Given the description of an element on the screen output the (x, y) to click on. 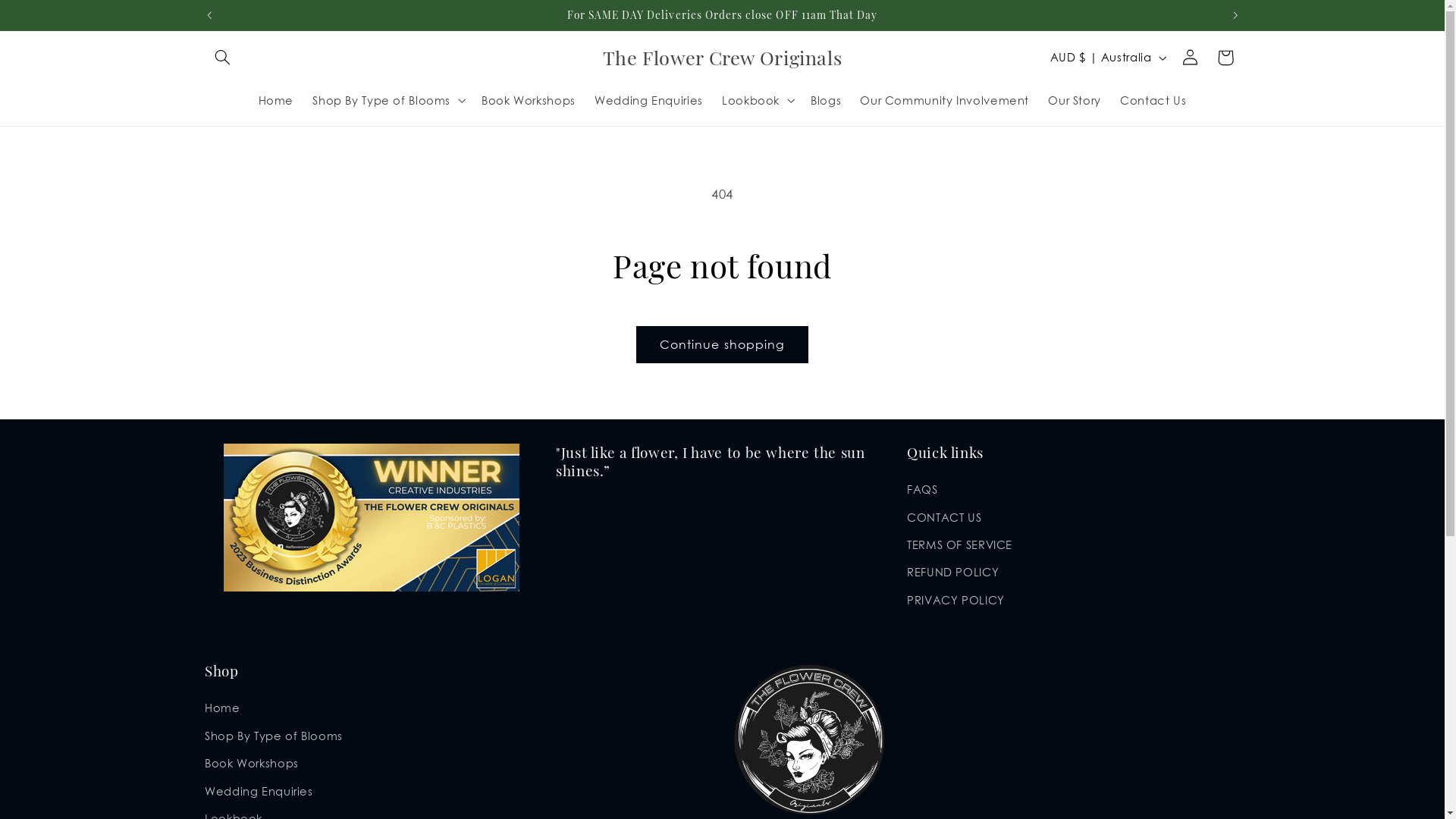
PRIVACY POLICY Element type: text (955, 600)
Our Story Element type: text (1074, 99)
Log in Element type: text (1190, 57)
TERMS OF SERVICE Element type: text (959, 544)
REFUND POLICY Element type: text (952, 572)
AUD $ | Australia Element type: text (1106, 57)
Home Element type: text (222, 709)
Wedding Enquiries Element type: text (648, 99)
Our Community Involvement Element type: text (944, 99)
CONTACT US Element type: text (943, 516)
Book Workshops Element type: text (527, 99)
Wedding Enquiries Element type: text (258, 790)
Book Workshops Element type: text (251, 763)
Shop By Type of Blooms Element type: text (273, 735)
Continue shopping Element type: text (722, 344)
Contact Us Element type: text (1153, 99)
FAQS Element type: text (922, 491)
Home Element type: text (275, 99)
Blogs Element type: text (825, 99)
The Flower Crew Originals Element type: text (722, 57)
Cart Element type: text (1225, 57)
